Given the description of an element on the screen output the (x, y) to click on. 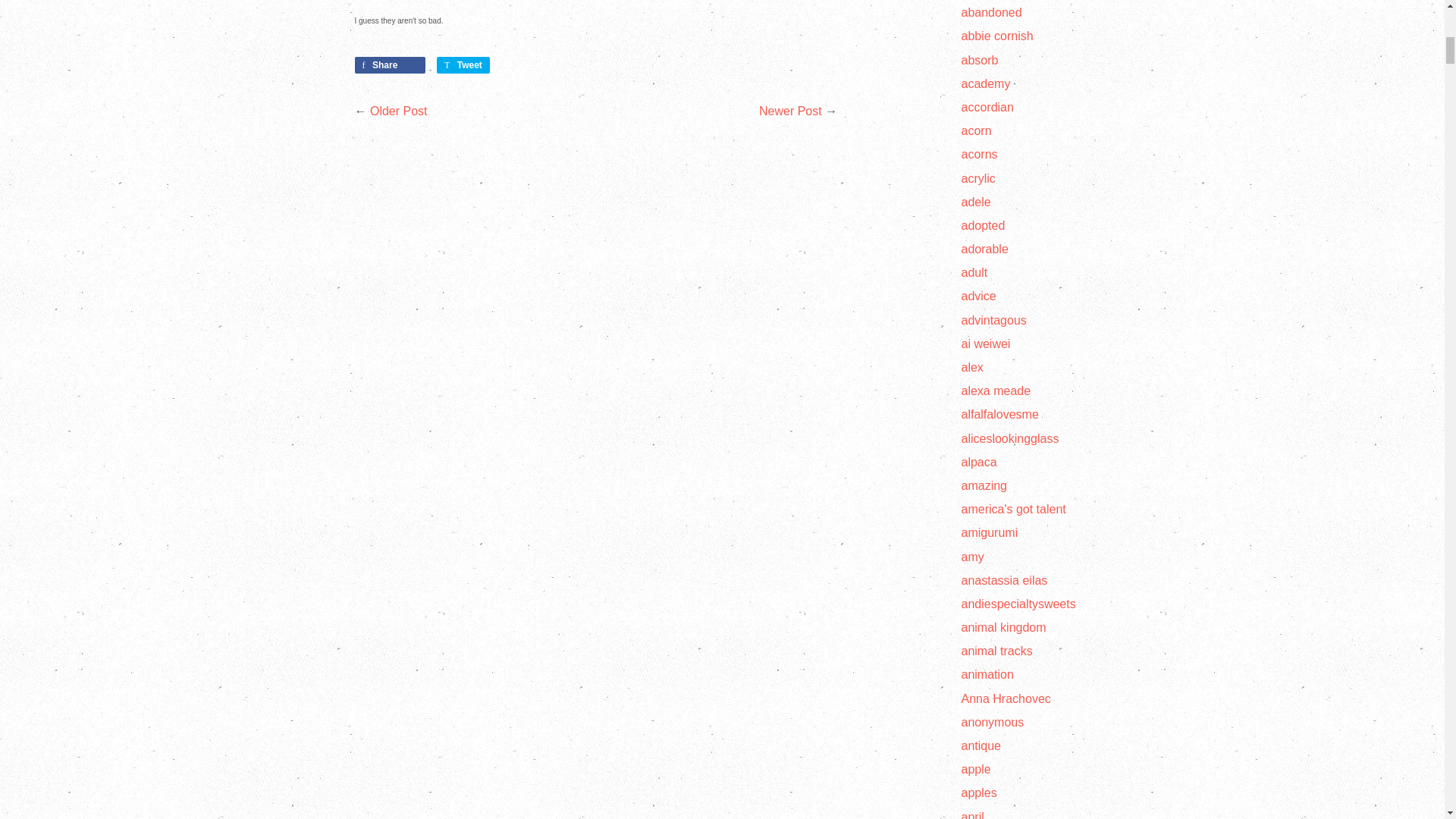
Show articles tagged abandoned (991, 11)
Show articles tagged accordian (986, 106)
Show articles tagged absorb (979, 60)
Newer Post (790, 110)
Show articles tagged abbie cornish (996, 35)
Show articles tagged acrylic (977, 177)
Older Post (398, 110)
Tweet (462, 64)
Show articles tagged acorns (978, 154)
Show articles tagged acorn (975, 130)
Show articles tagged adele (975, 201)
Show articles tagged academy (985, 83)
Share (390, 64)
